Given the description of an element on the screen output the (x, y) to click on. 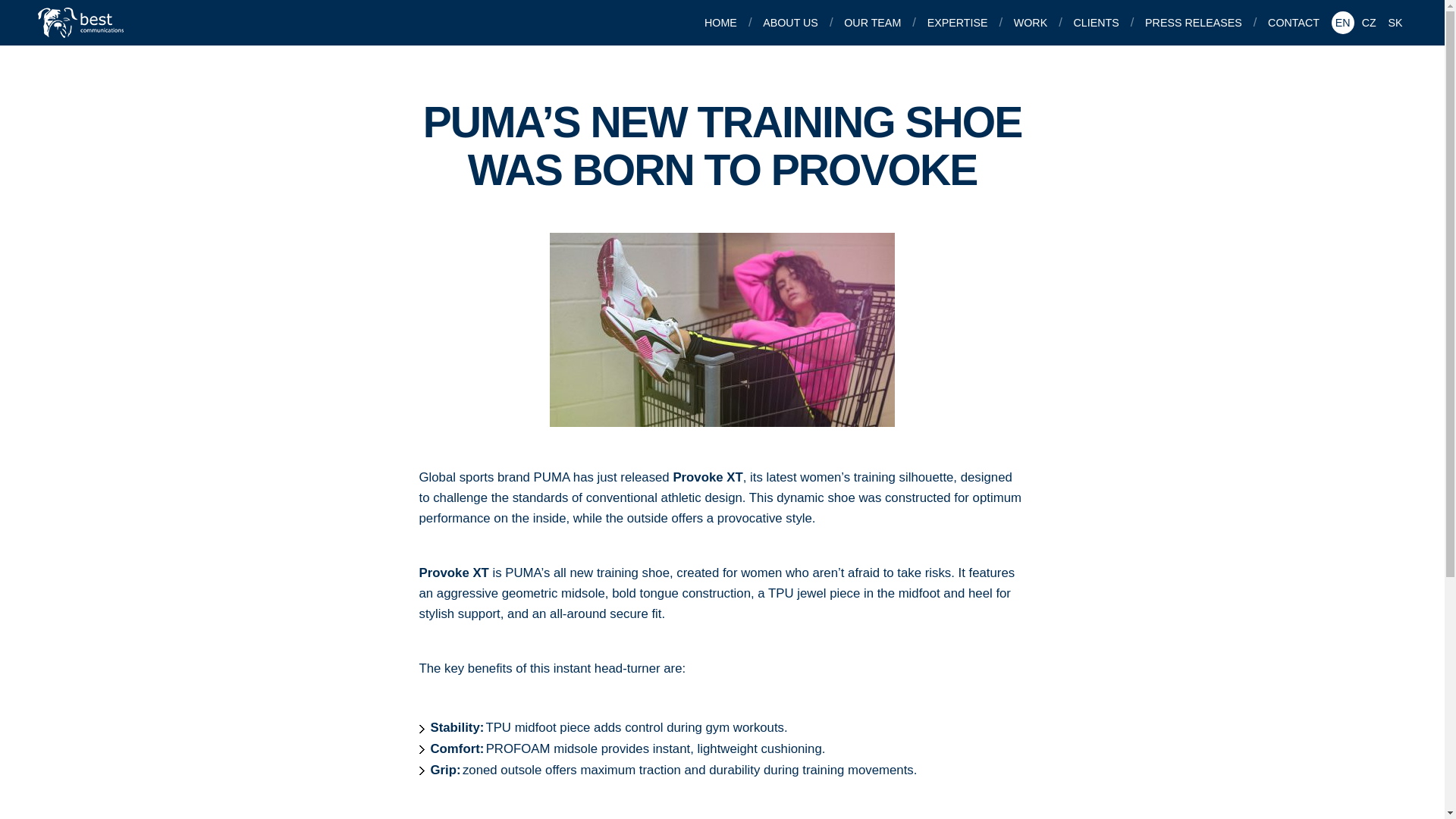
CLIENTS (1098, 22)
Best Communications (82, 22)
CZ (1368, 22)
CONTACT (1295, 22)
WORK (1032, 22)
PRESS RELEASES (1195, 22)
SK (1395, 22)
EXPERTISE (959, 22)
EN (1343, 22)
ABOUT US (792, 22)
